Given the description of an element on the screen output the (x, y) to click on. 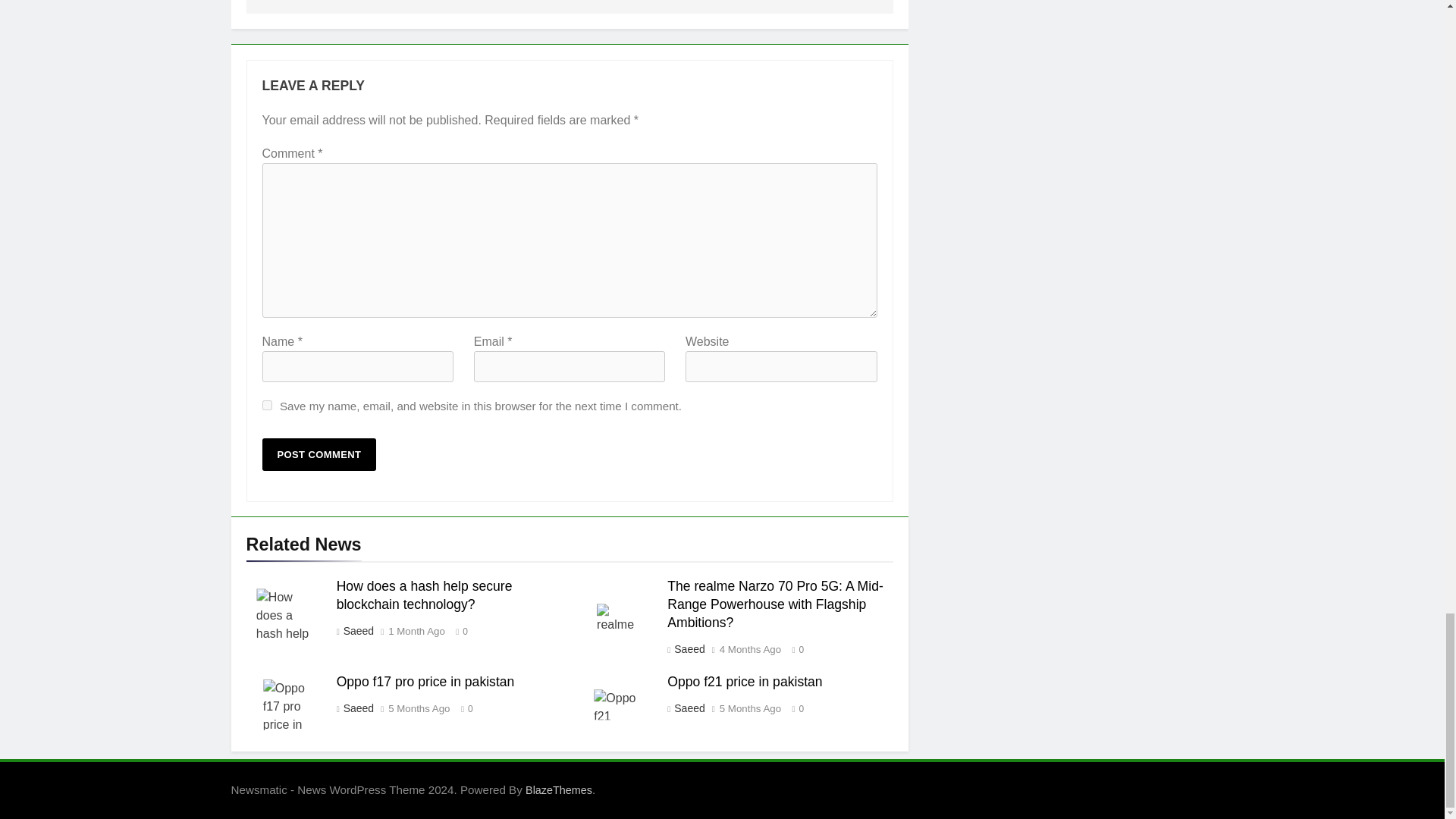
Post Comment (319, 454)
yes (267, 405)
